Given the description of an element on the screen output the (x, y) to click on. 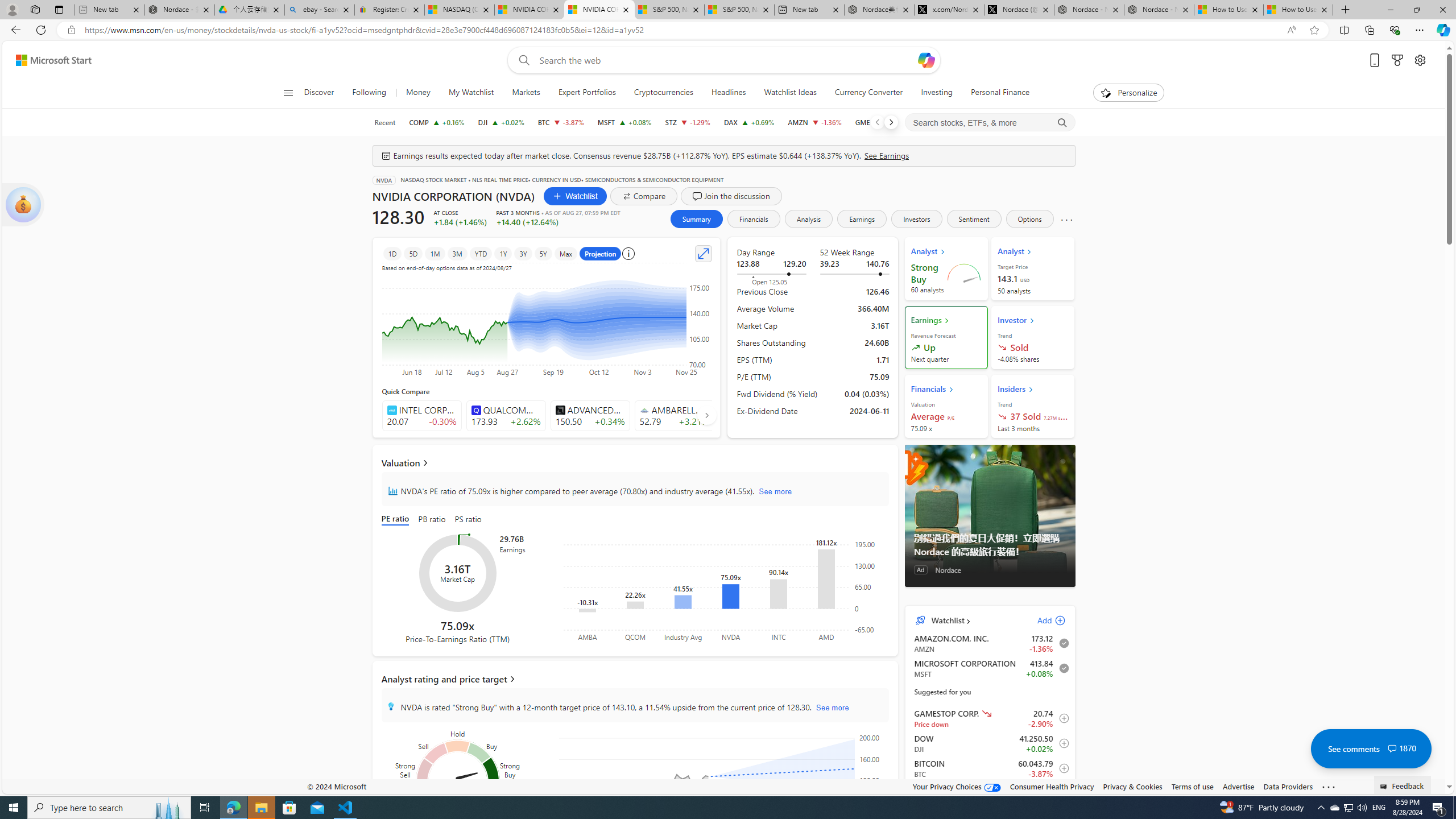
Your Privacy Choices (956, 785)
Headlines (727, 92)
To get missing image descriptions, open the context menu. (1105, 92)
5Y (542, 253)
STZ CONSTELLATION BRANDS, INC. decrease 239.98 -3.13 -1.29% (687, 122)
Terms of use (1192, 786)
Investors (916, 218)
Summary (695, 218)
5D (413, 253)
Class: oneFooter_seeMore-DS-EntryPoint1-1 (1328, 786)
